Given the description of an element on the screen output the (x, y) to click on. 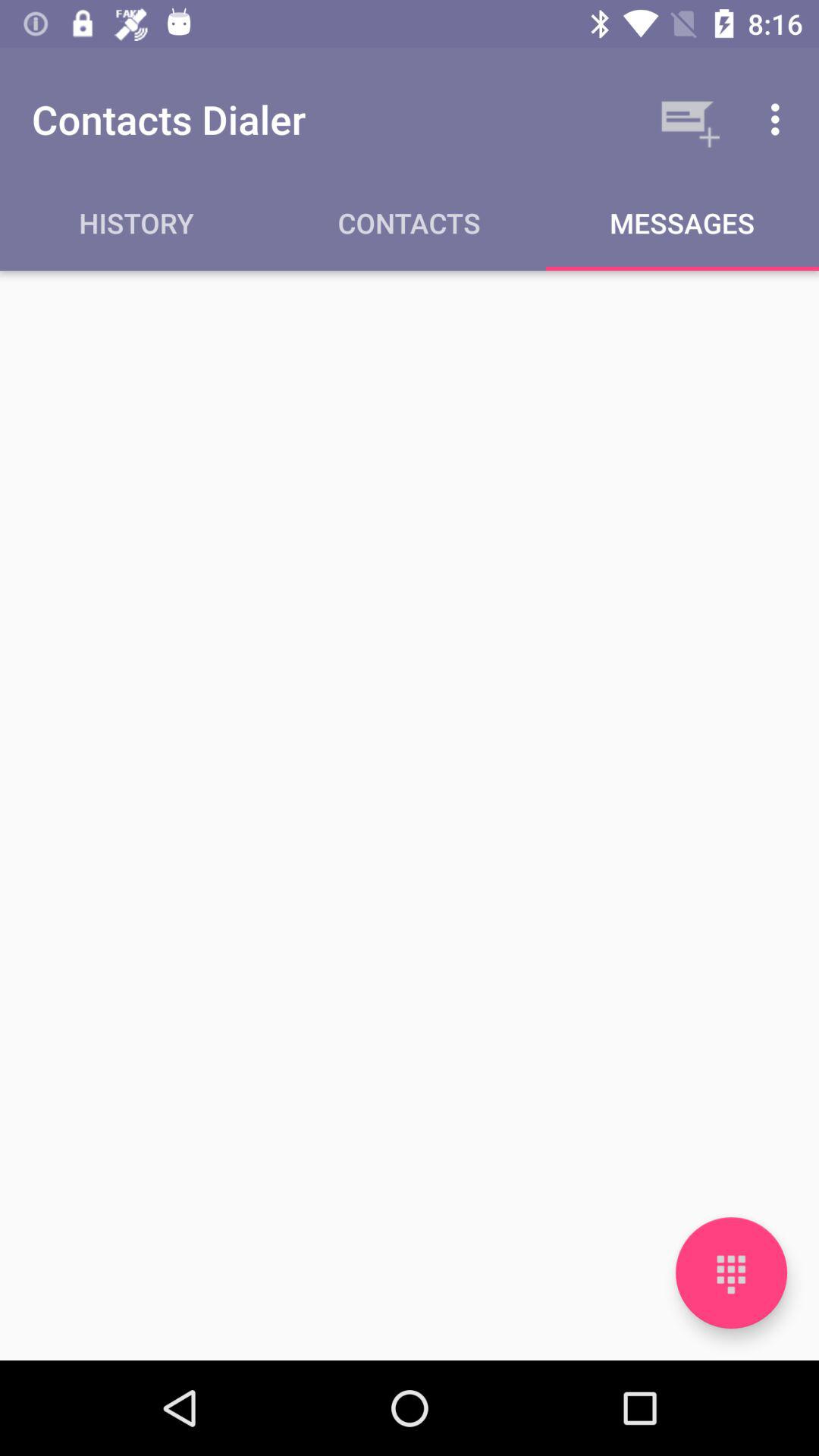
launch the icon above messages (687, 119)
